Given the description of an element on the screen output the (x, y) to click on. 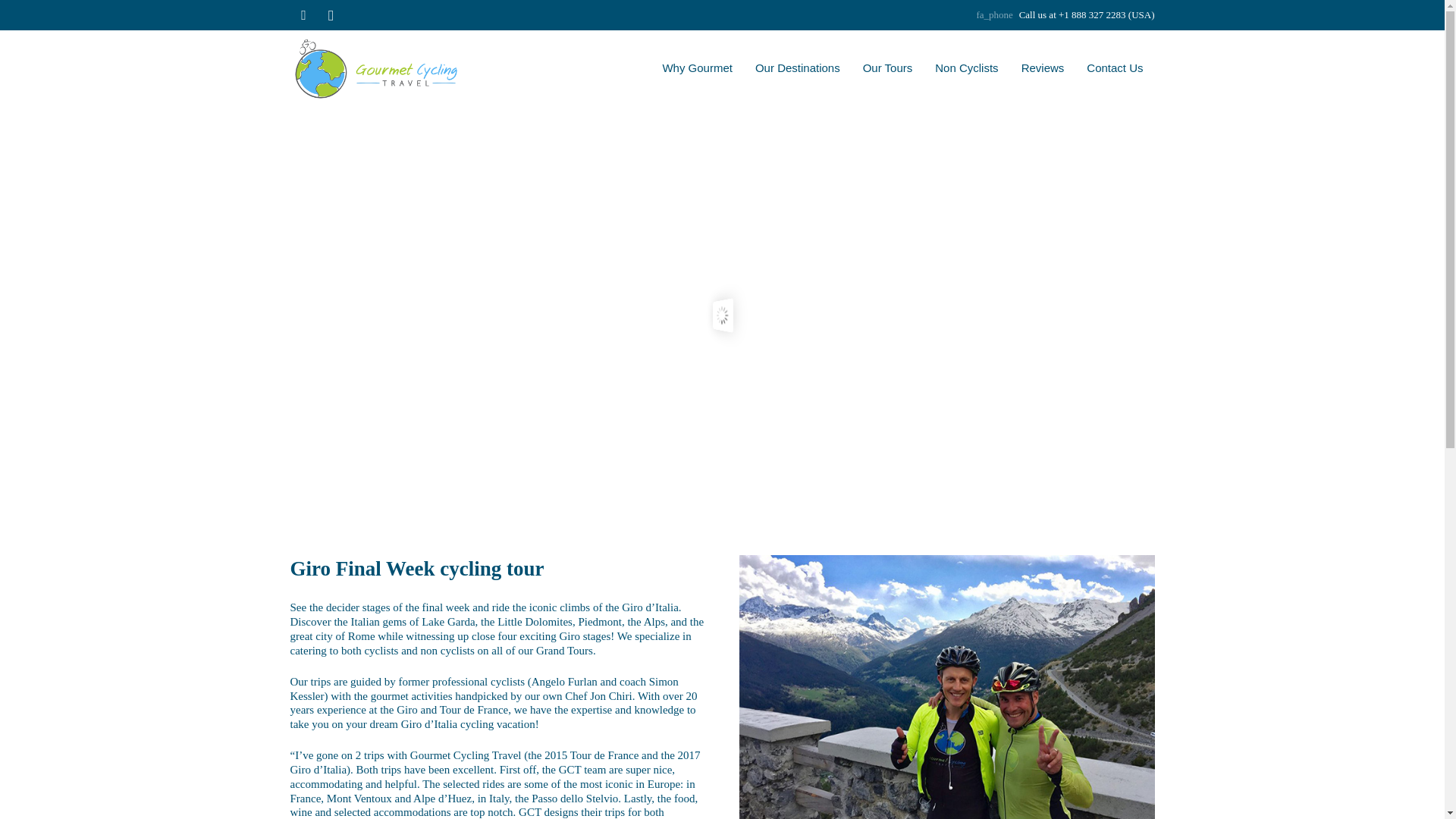
Our Tours (887, 68)
Our Destinations (797, 68)
Why Gourmet (697, 68)
Contact Us (1114, 68)
Non Cyclists (966, 68)
Facebook (303, 14)
Instagram (330, 14)
